Given the description of an element on the screen output the (x, y) to click on. 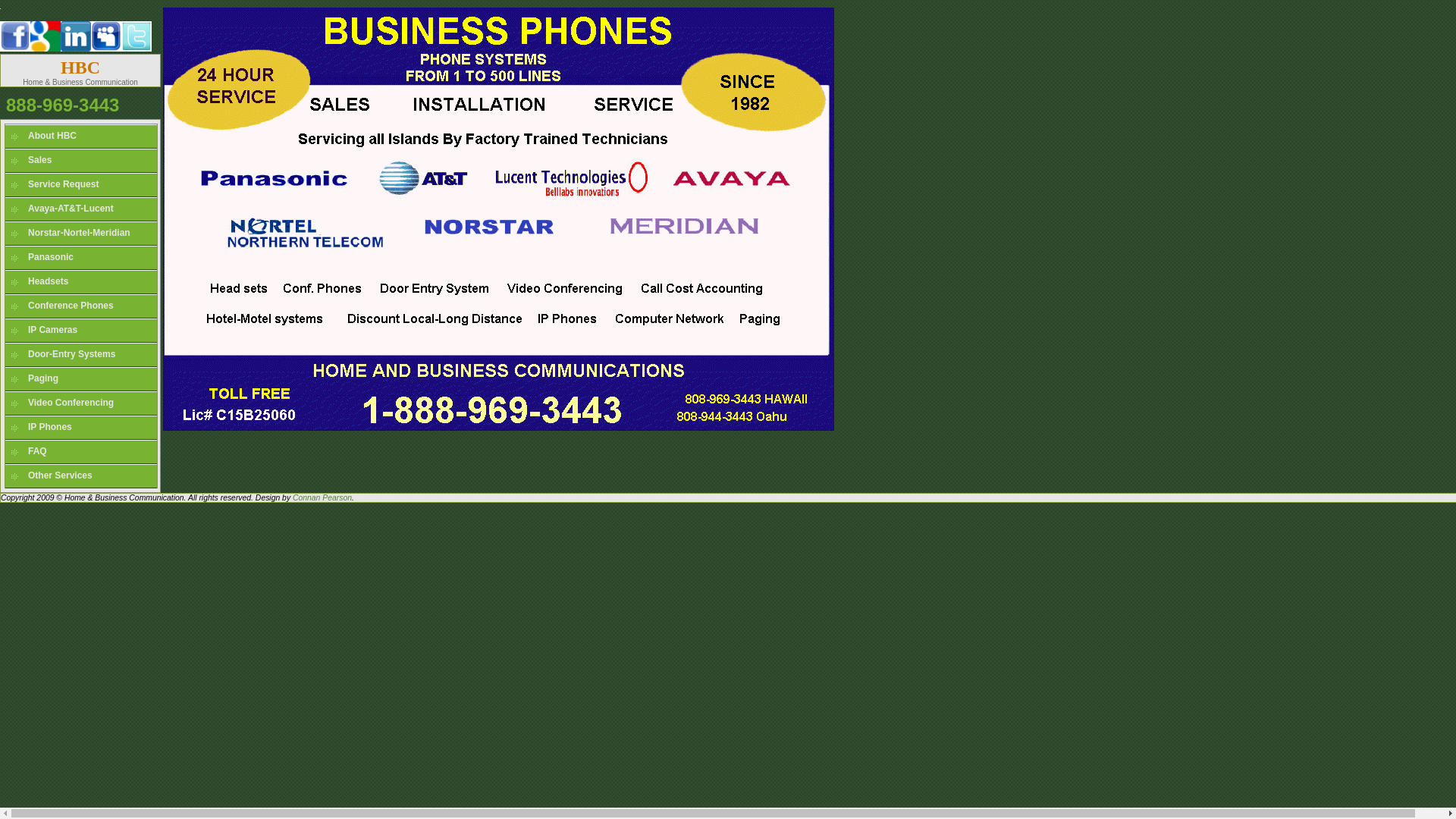
Connan Pearson Element type: text (321, 497)
Other Services Element type: text (80, 476)
Panasonic Element type: text (80, 257)
Video Conferencing Element type: text (80, 403)
Sales Element type: text (80, 160)
Avaya-AT&T-Lucent Element type: text (80, 209)
Norstar-Nortel-Meridian Element type: text (80, 233)
Door-Entry Systems Element type: text (80, 354)
Paging Element type: text (80, 379)
Headsets Element type: text (80, 281)
Nortel Products Element type: hover (45, 47)
About HBC Element type: text (80, 136)
IP Cameras Element type: text (80, 330)
HBC Element type: text (80, 67)
FAQ Element type: text (80, 451)
IP Phones Element type: text (80, 427)
Service Request Element type: text (80, 184)
Conference Phones Element type: text (80, 306)
